Given the description of an element on the screen output the (x, y) to click on. 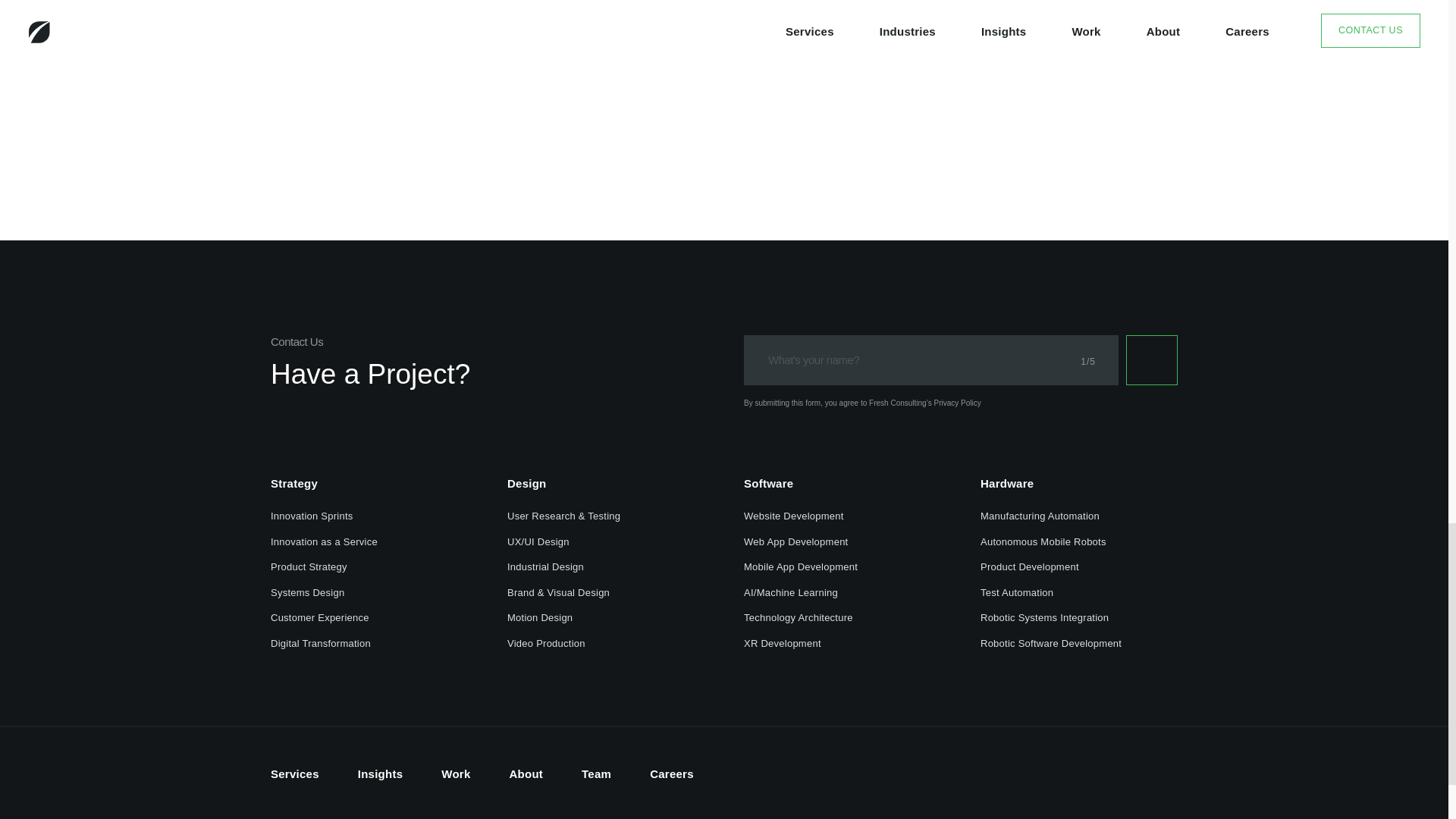
Website Development (794, 517)
Video Production (545, 645)
Industrial Design (544, 568)
Digital Transformation (320, 645)
Web App Development (795, 543)
Systems Design (306, 594)
Customer Experience (319, 619)
Mobile App Development (800, 568)
Software (768, 485)
Motion Design (539, 619)
